Given the description of an element on the screen output the (x, y) to click on. 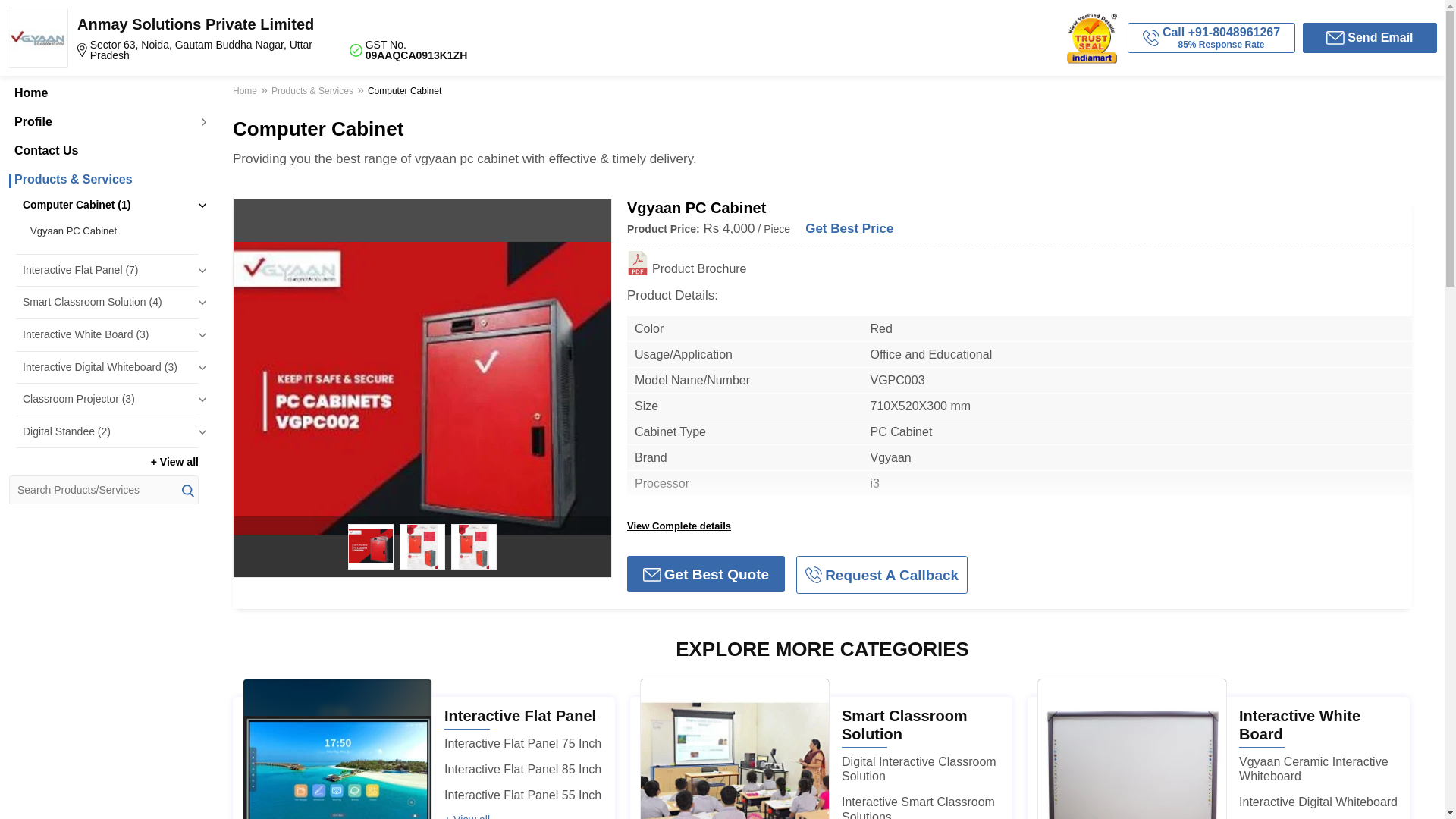
Contact Us (103, 150)
Vgyaan PC Cabinet (110, 231)
Home (246, 92)
Home (103, 92)
Profile (103, 121)
